Given the description of an element on the screen output the (x, y) to click on. 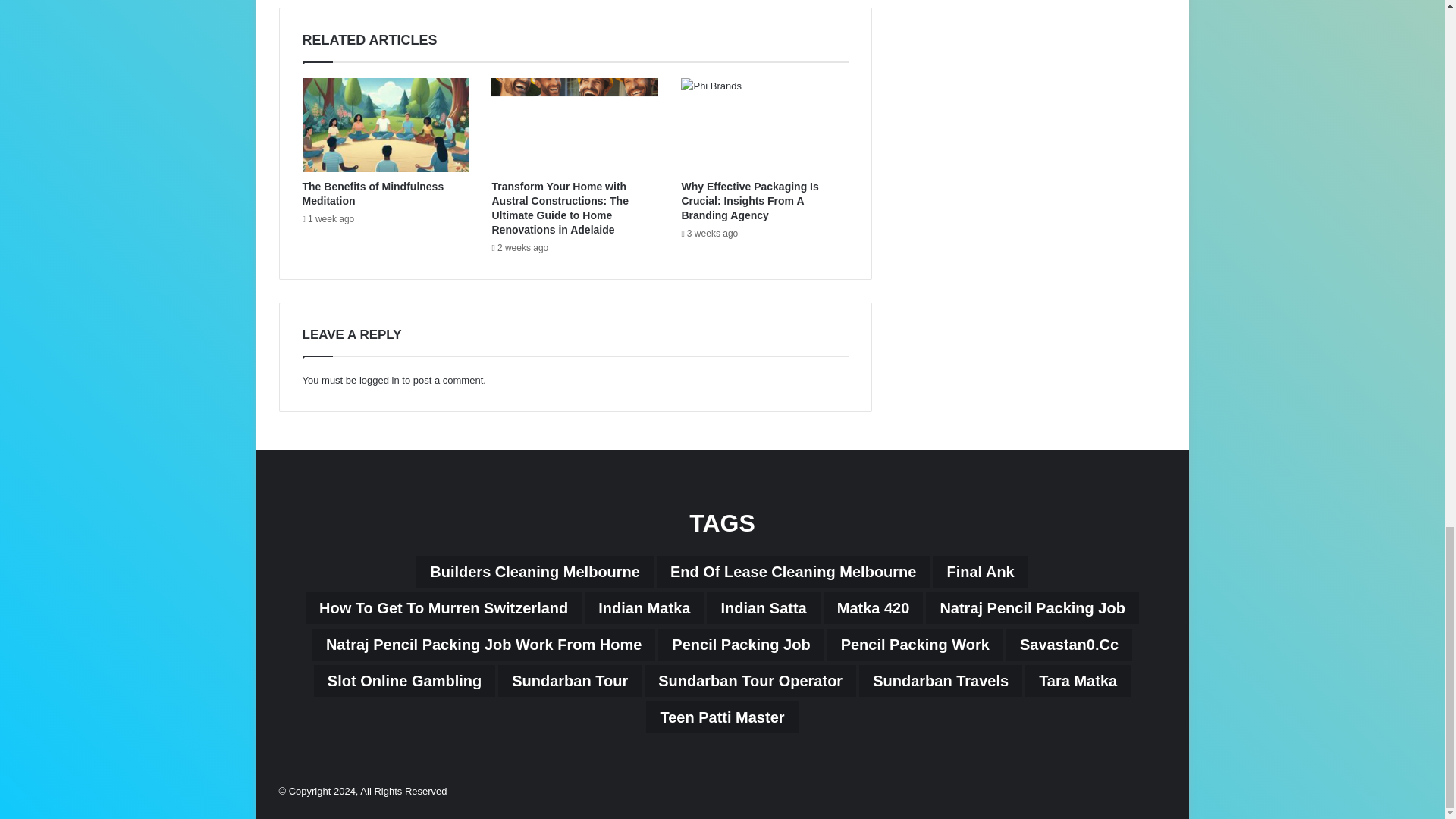
The Benefits of Mindfulness Meditation (372, 193)
